Given the description of an element on the screen output the (x, y) to click on. 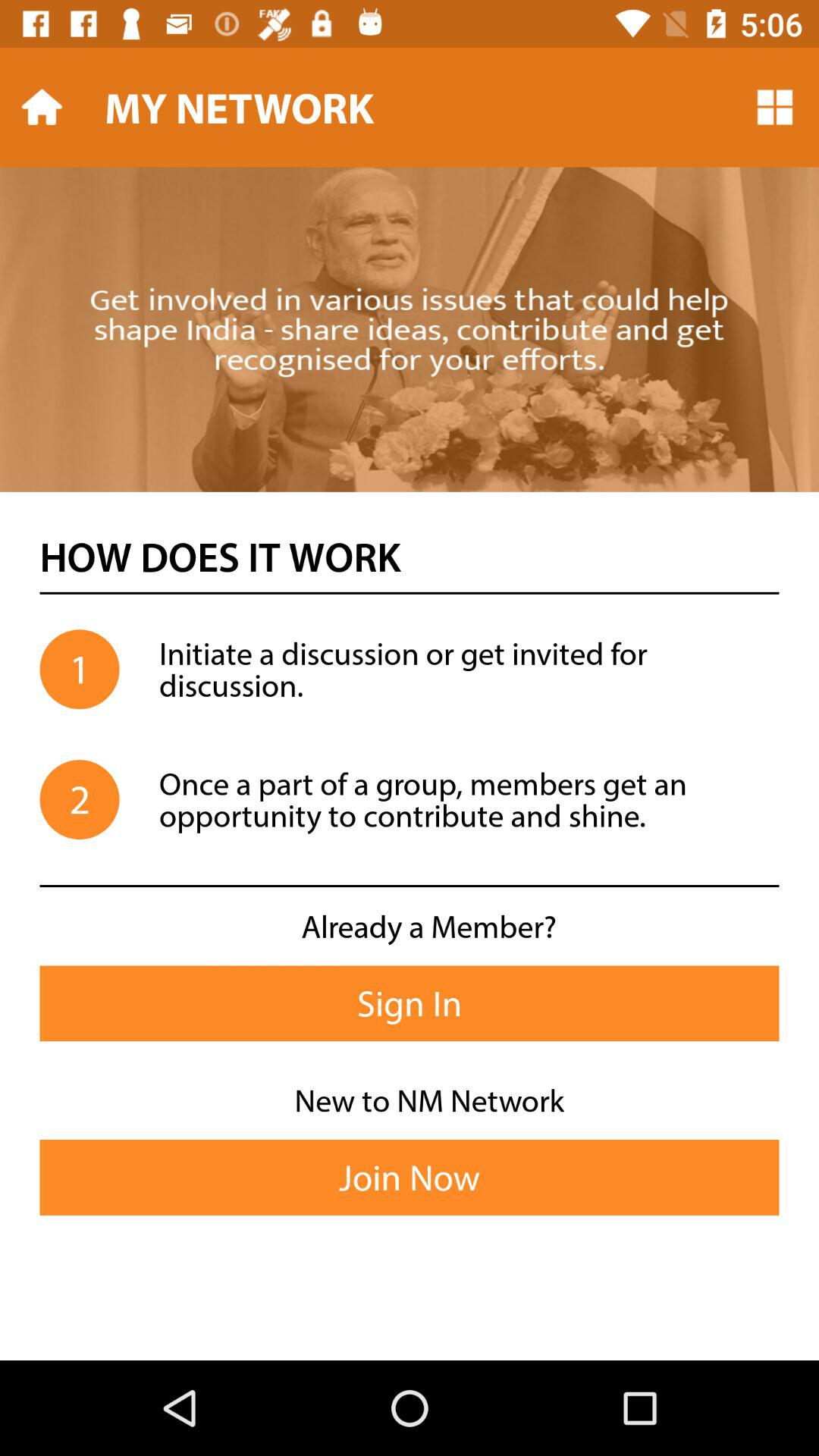
tap the item above the new to nm icon (409, 1003)
